Given the description of an element on the screen output the (x, y) to click on. 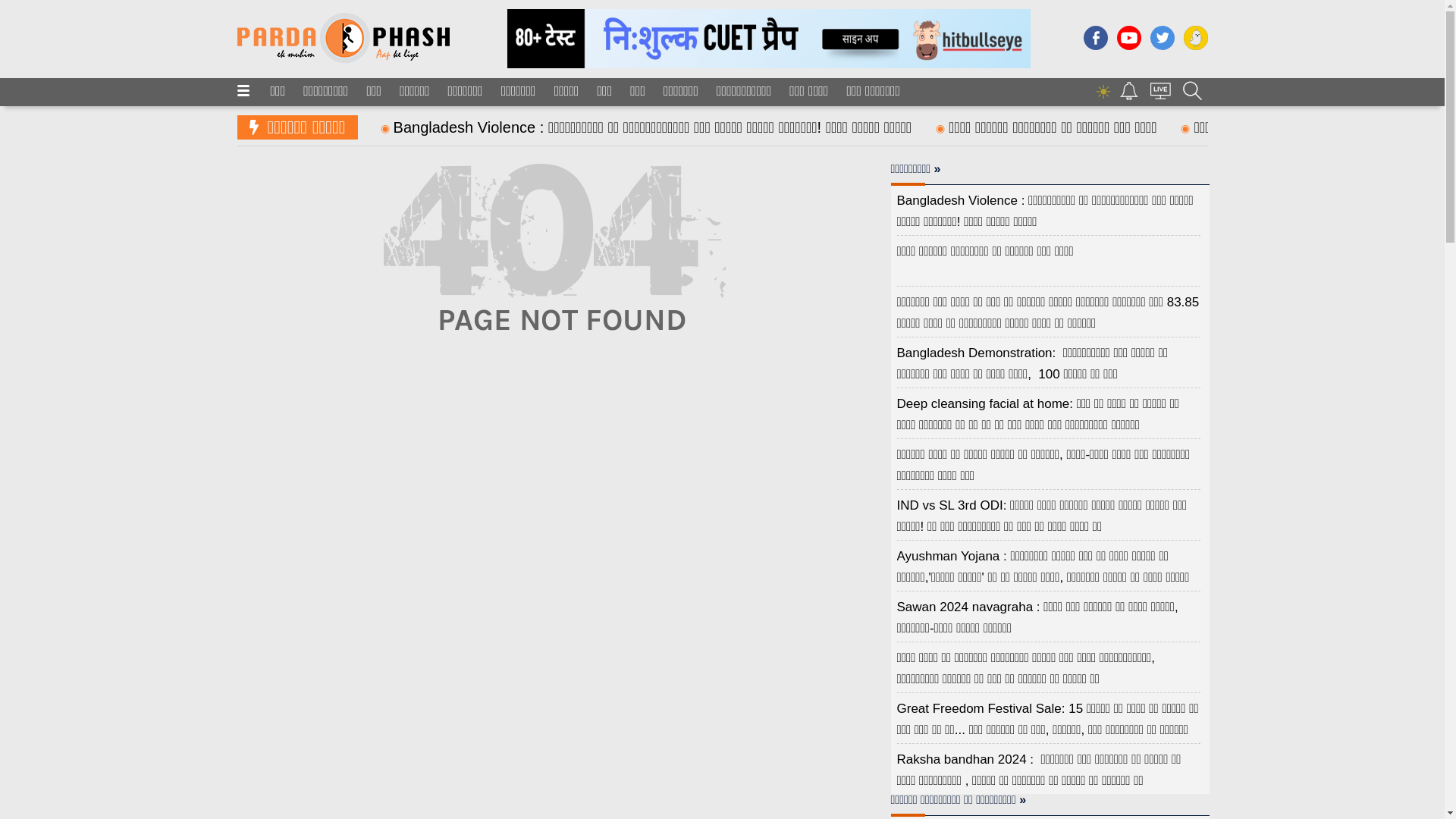
PardaPhash YouTube (1128, 45)
PardaPhash Twitter (1161, 45)
PardaPhash Facebook (1094, 45)
PardaPhash Koo (1194, 45)
